Given the description of an element on the screen output the (x, y) to click on. 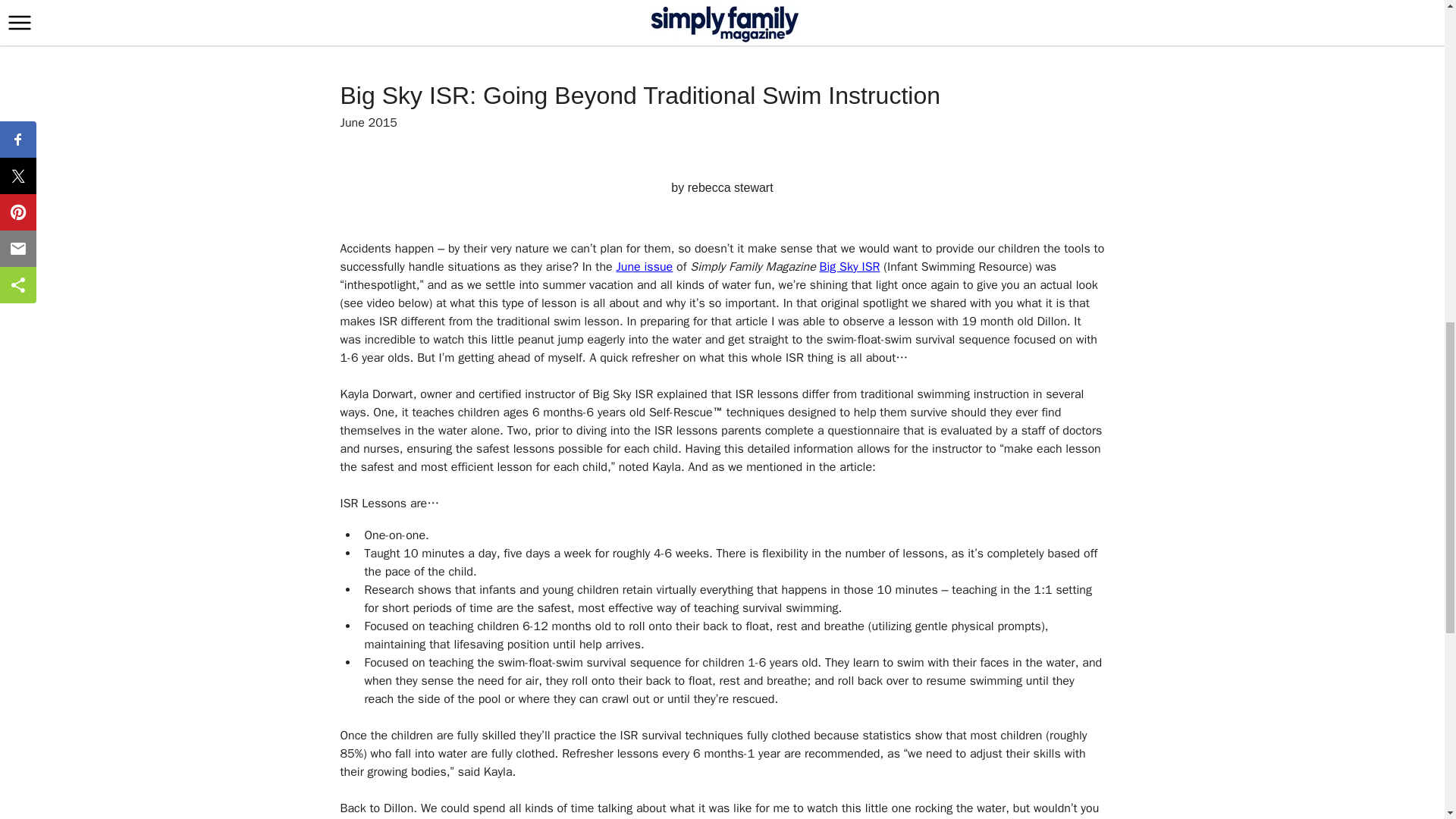
June issue (643, 266)
Big Sky ISR (849, 266)
